Given the description of an element on the screen output the (x, y) to click on. 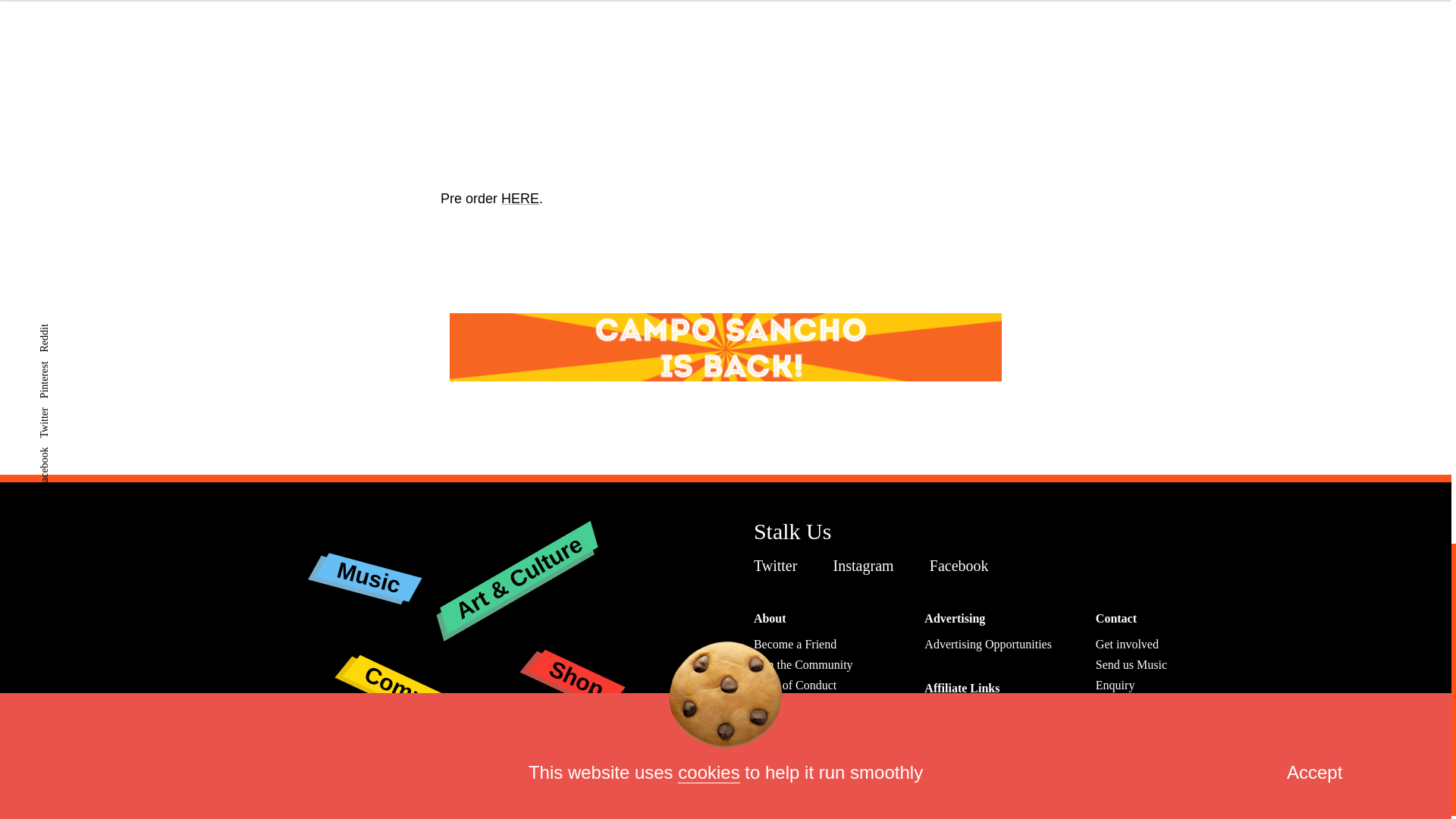
Enquiry (1115, 684)
HERE (519, 198)
Twitter (779, 566)
Music (366, 565)
Contact (1116, 617)
Shop (575, 661)
Instagram (866, 566)
About (770, 617)
Commentary (431, 666)
Get involved (1127, 644)
